Given the description of an element on the screen output the (x, y) to click on. 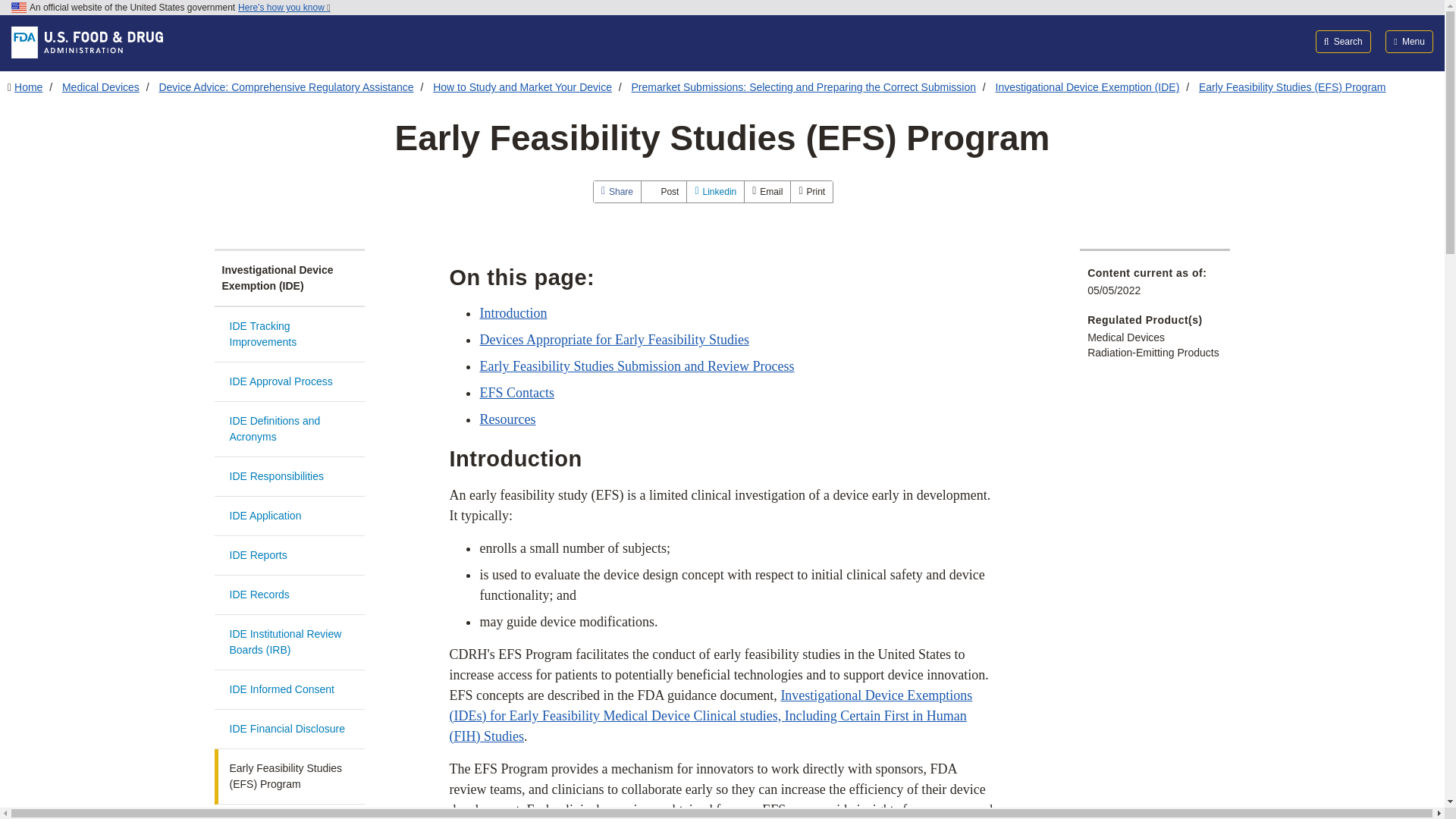
  Search (1343, 41)
Print this page (811, 191)
  Menu (1409, 41)
